Given the description of an element on the screen output the (x, y) to click on. 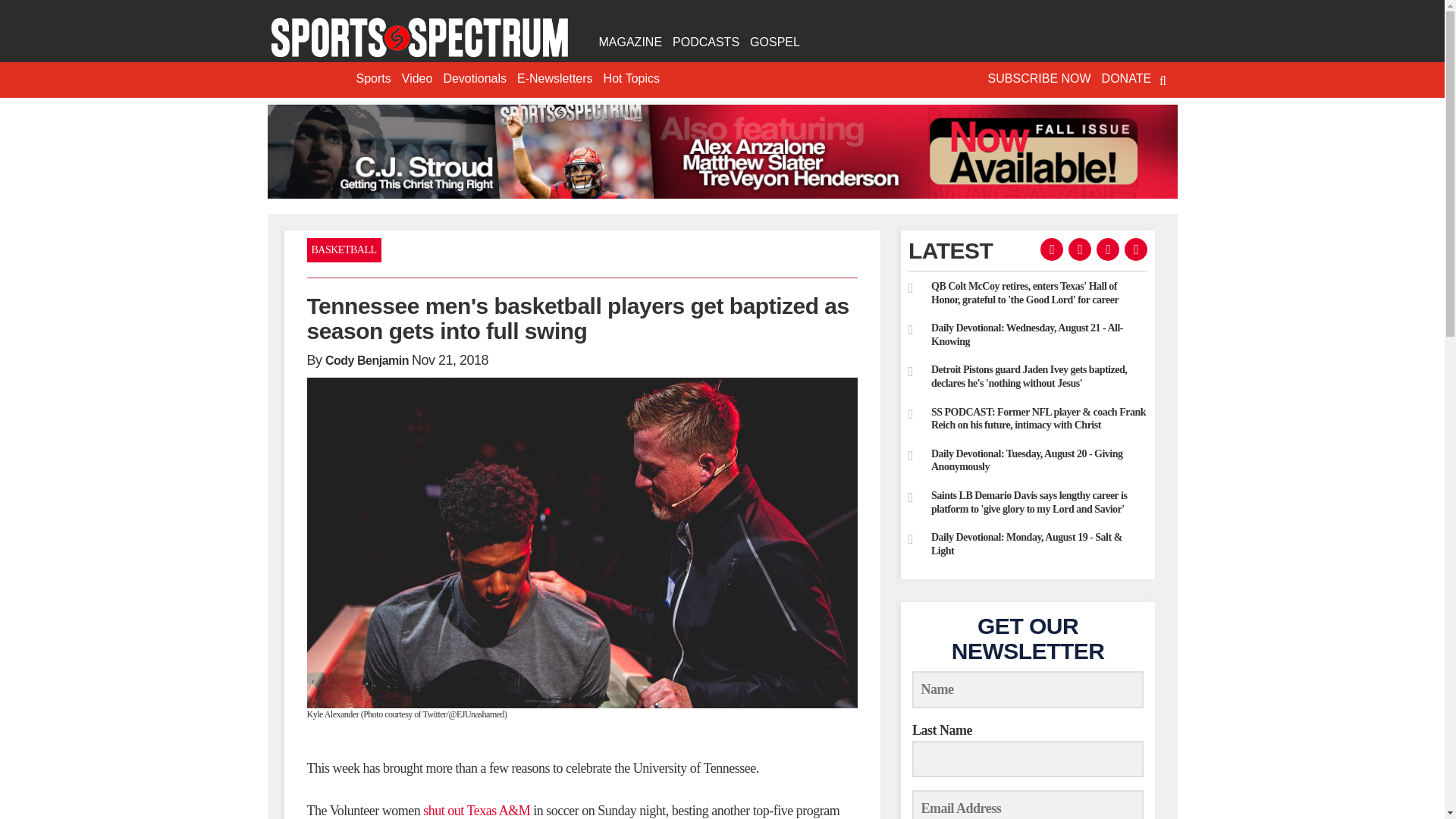
Video (417, 78)
BASKETBALL (342, 250)
Sports Spectrum (418, 37)
Sports (373, 78)
GOSPEL (774, 42)
PODCASTS (705, 42)
Devotionals (475, 78)
E-Newsletters (555, 78)
MAGAZINE (629, 42)
SUBSCRIBE NOW (1039, 78)
